Given the description of an element on the screen output the (x, y) to click on. 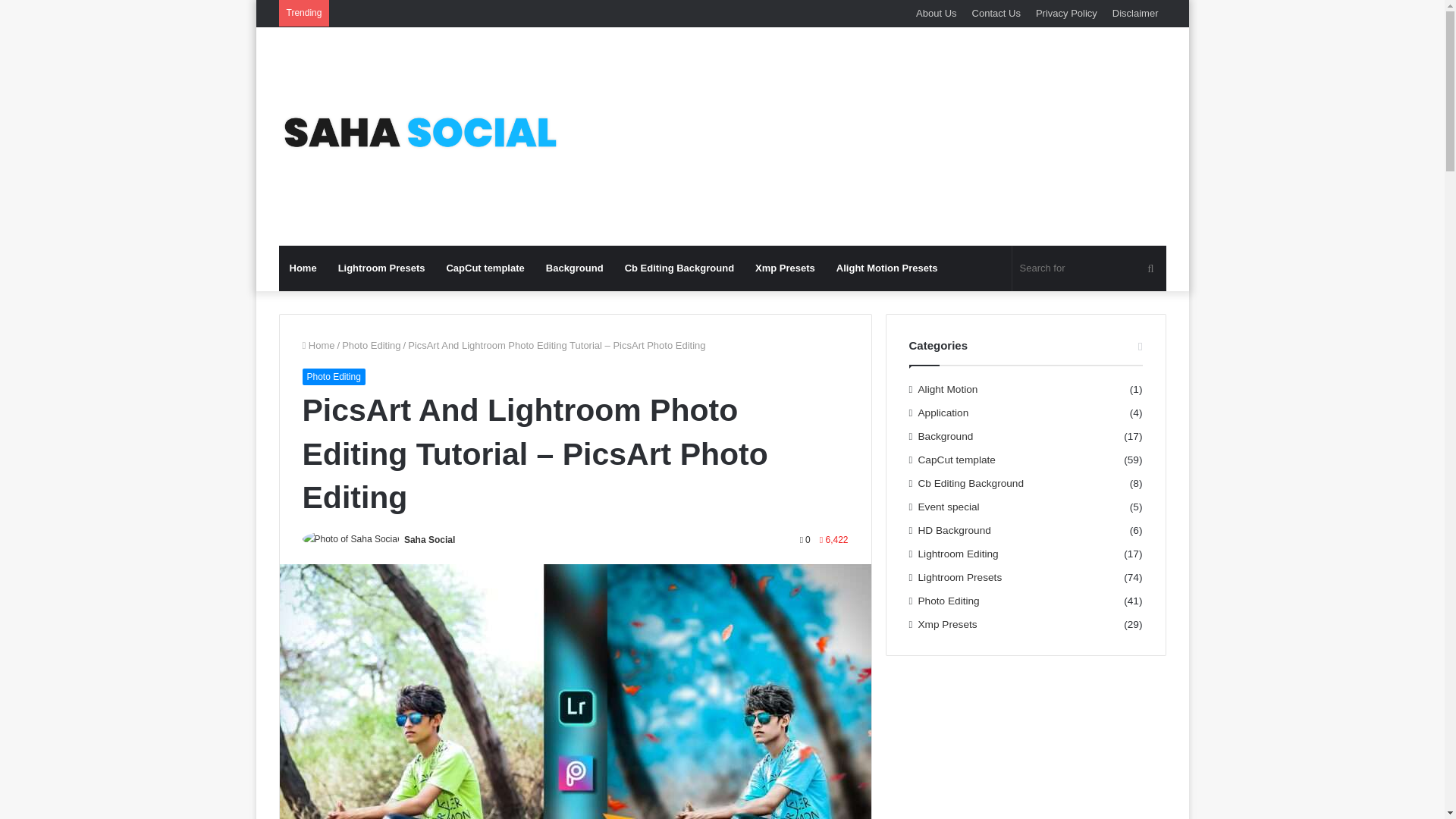
Saha Social (429, 539)
Saha Social (419, 136)
Saha Social (429, 539)
Contact Us (995, 13)
About Us (935, 13)
Photo Editing (371, 345)
CapCut template (484, 268)
Photo Editing (333, 376)
Home (303, 268)
Xmp Presets (784, 268)
